Given the description of an element on the screen output the (x, y) to click on. 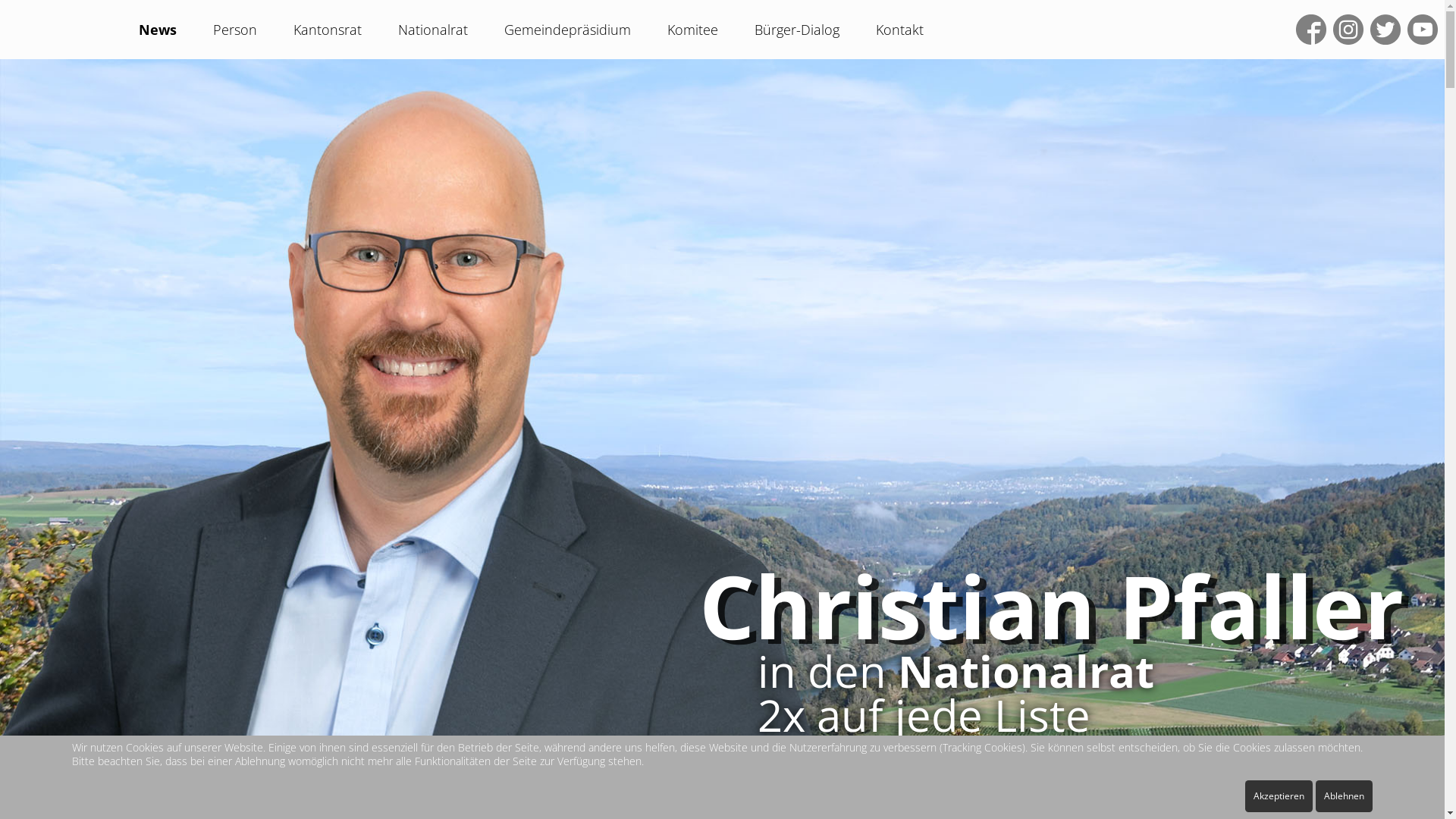
Nationalrat Element type: text (432, 29)
News Element type: text (157, 29)
Komitee Element type: text (692, 29)
Ablehnen Element type: text (1343, 796)
Kontakt Element type: text (899, 29)
Kantonsrat Element type: text (327, 29)
Akzeptieren Element type: text (1278, 796)
Person Element type: text (234, 29)
